Given the description of an element on the screen output the (x, y) to click on. 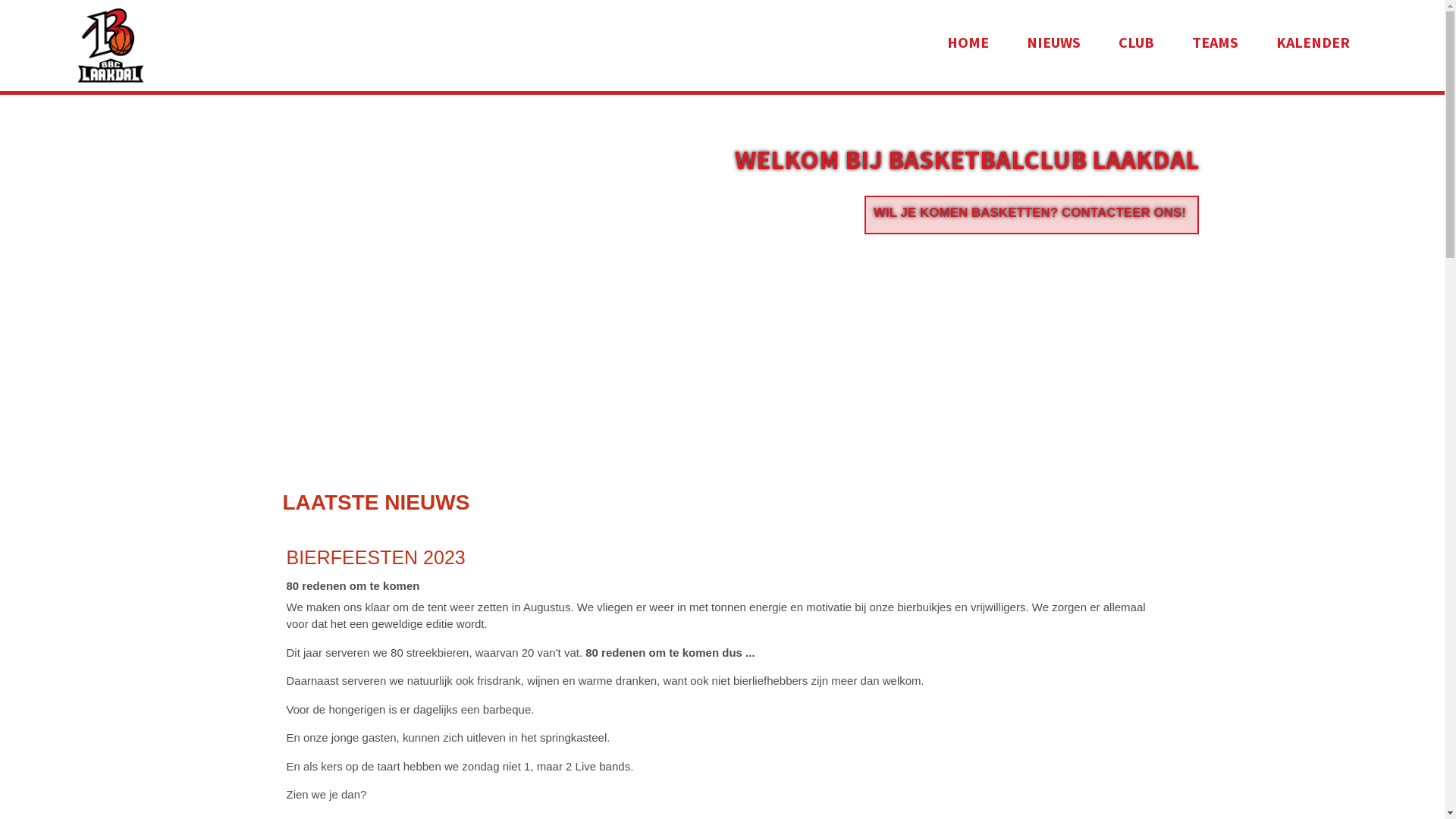
WIL JE KOMEN BASKETTEN? CONTACTEER ONS! Element type: text (1029, 211)
BIERFEESTEN 2023 Element type: text (375, 556)
KALENDER Element type: text (1312, 42)
HOME Element type: text (967, 42)
TEAMS Element type: text (1215, 42)
NIEUWS Element type: text (1053, 42)
